Given the description of an element on the screen output the (x, y) to click on. 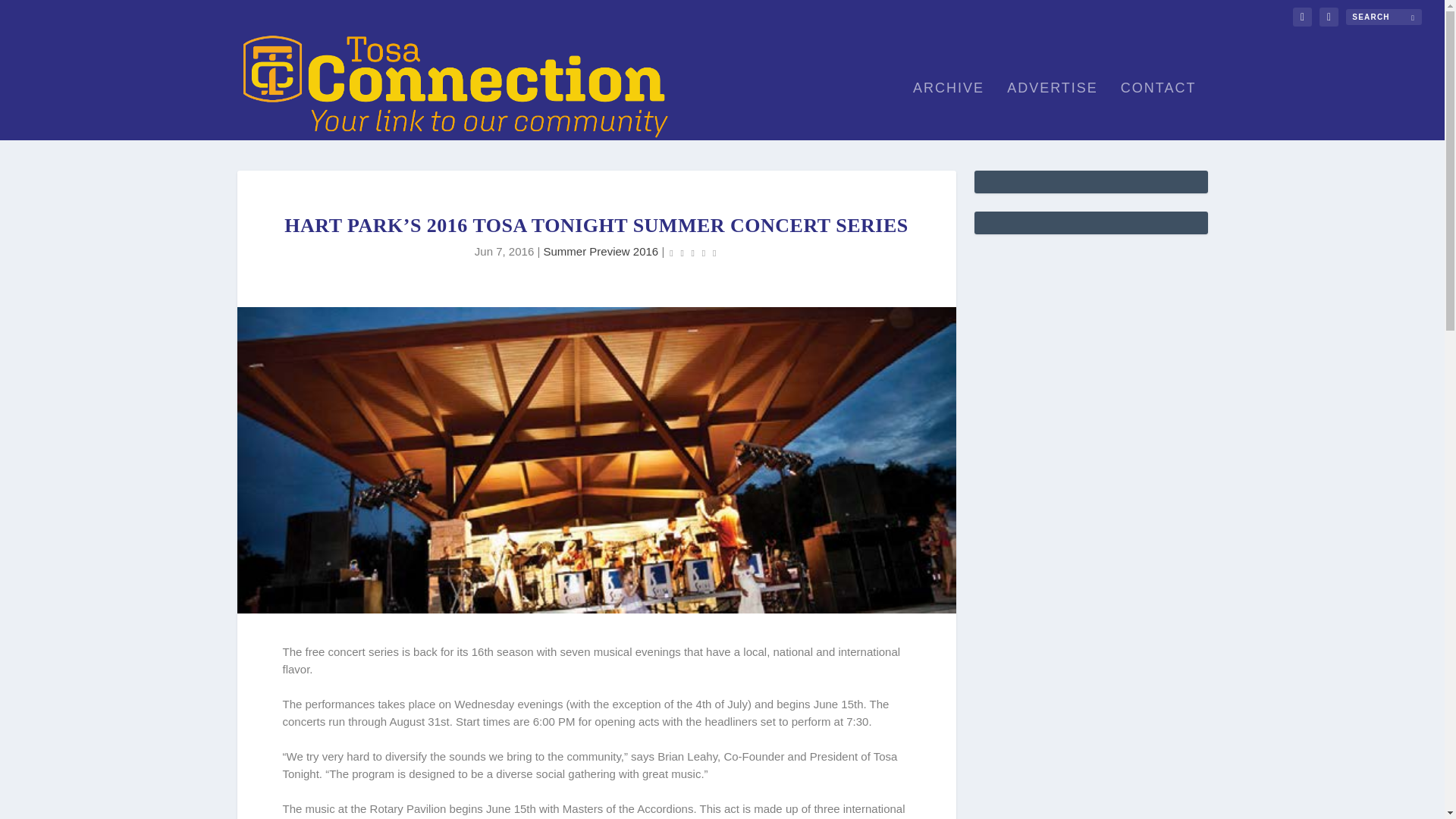
Rating: 0.00 (691, 252)
Search for: (1383, 17)
ARCHIVE (948, 110)
CONTACT (1158, 110)
Summer Preview 2016 (600, 250)
ADVERTISE (1052, 110)
